Given the description of an element on the screen output the (x, y) to click on. 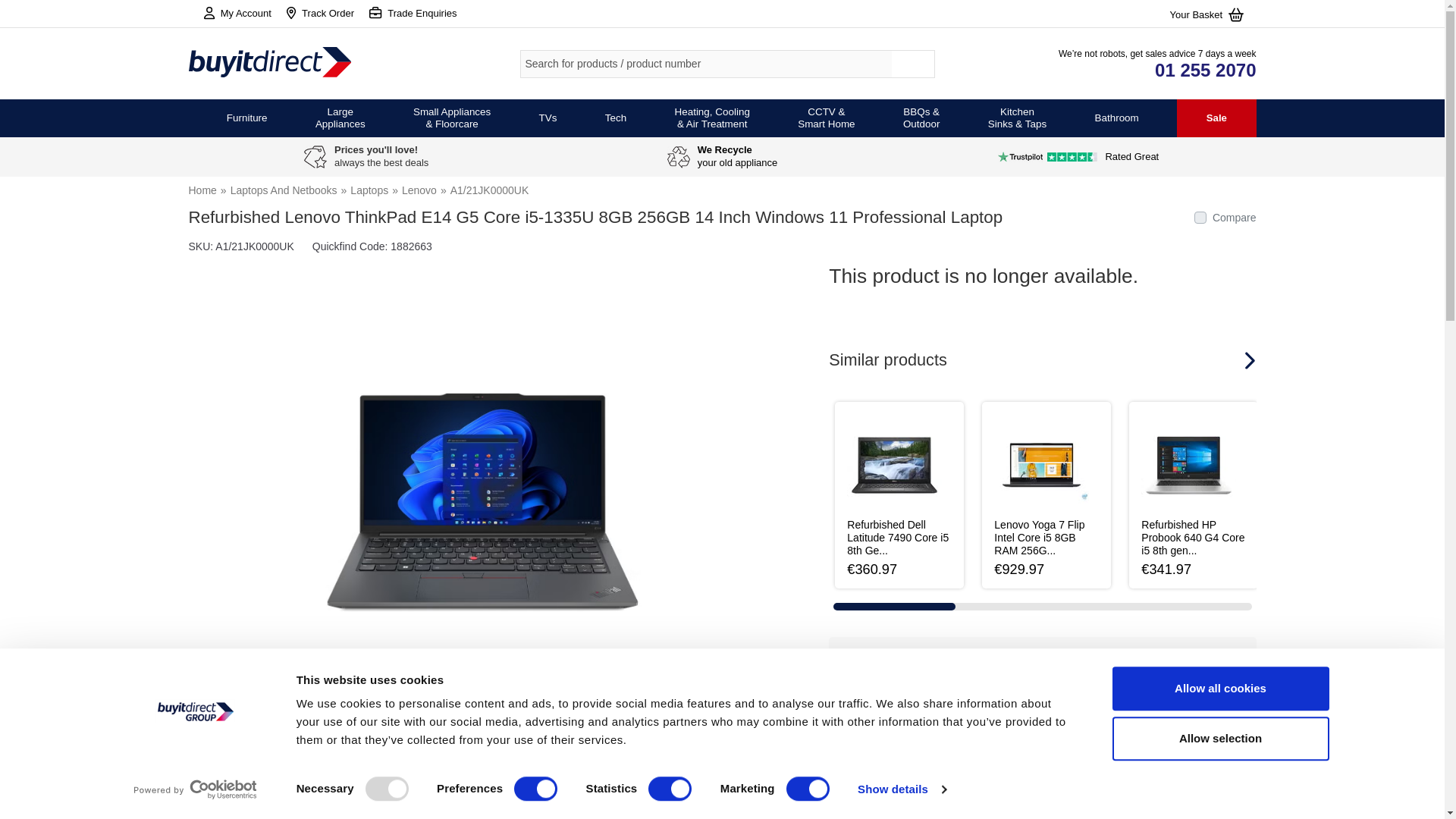
Show details (900, 789)
